Given the description of an element on the screen output the (x, y) to click on. 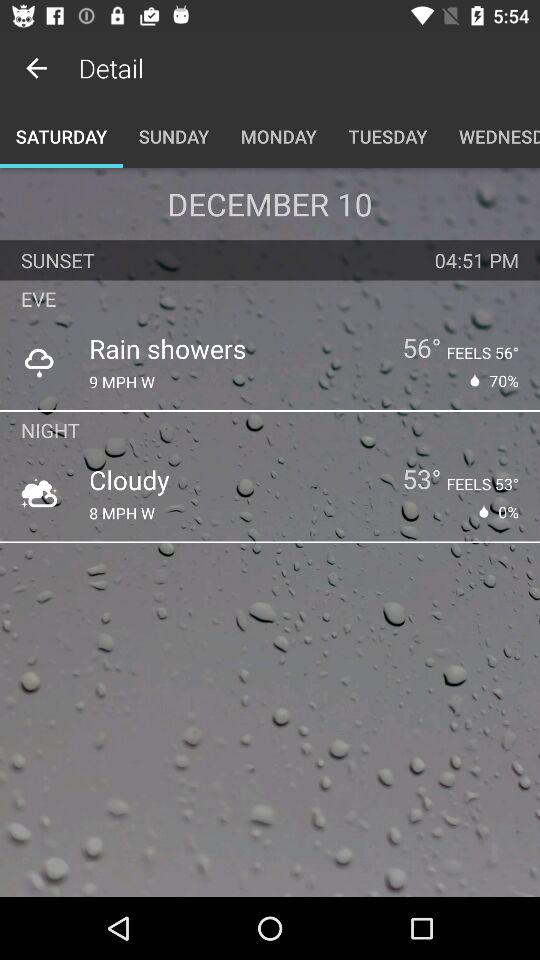
turn off the item next to detail icon (36, 68)
